Given the description of an element on the screen output the (x, y) to click on. 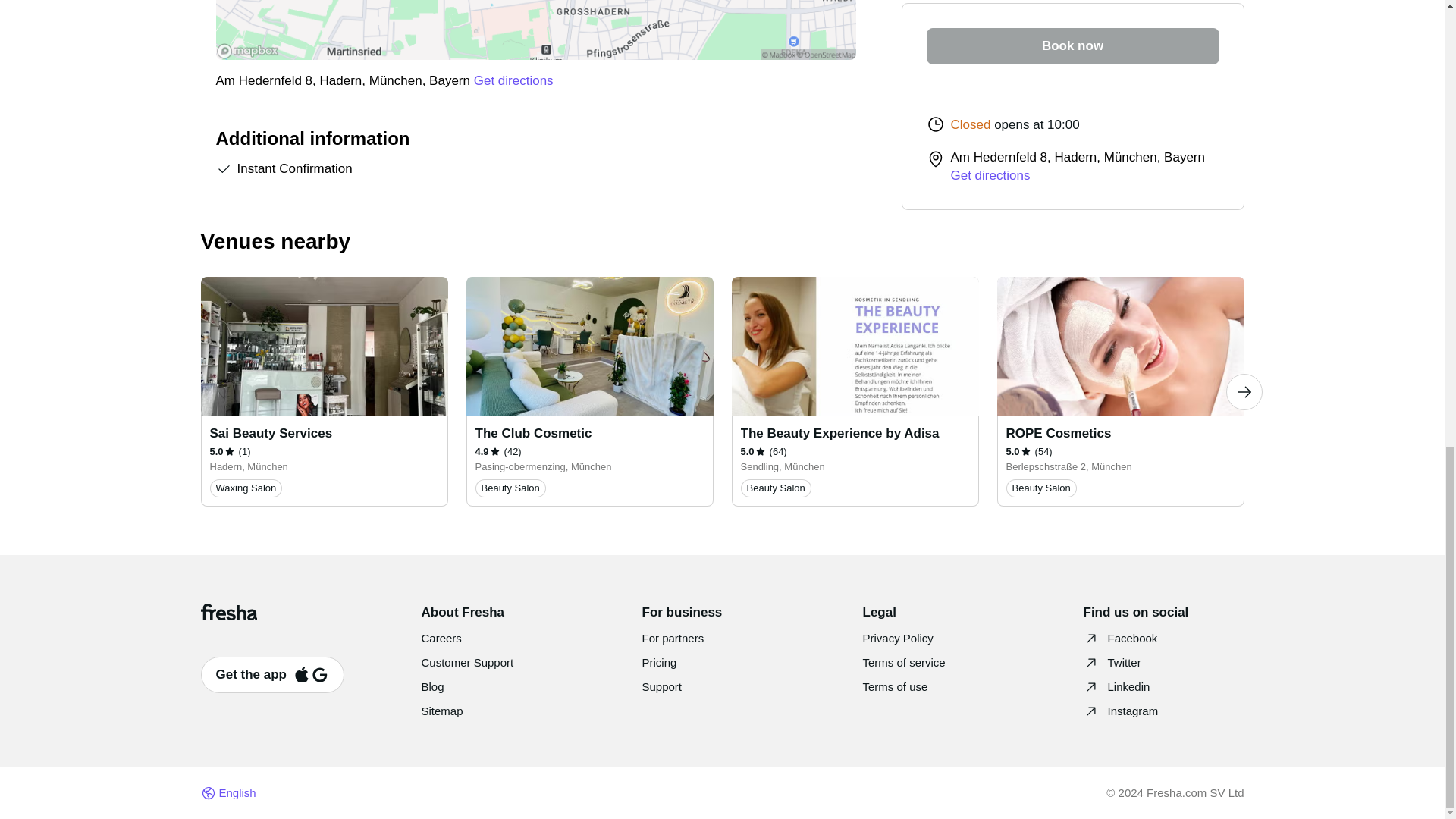
Customer Support (467, 662)
Get directions (513, 80)
Sitemap (442, 710)
Blog (433, 686)
Get the app (271, 674)
Careers (441, 637)
For partners (672, 637)
